Given the description of an element on the screen output the (x, y) to click on. 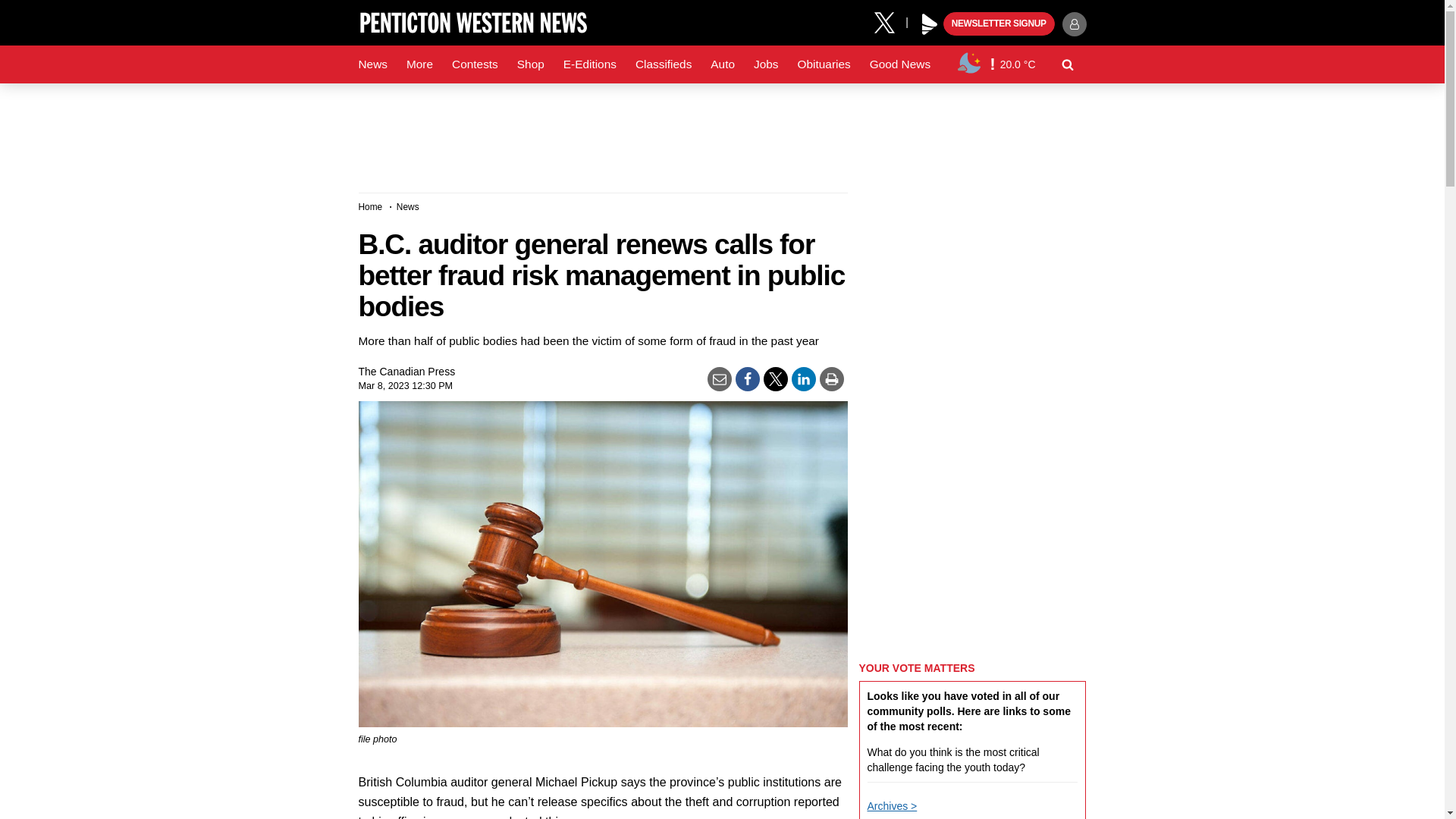
3rd party ad content (721, 131)
X (889, 21)
NEWSLETTER SIGNUP (998, 24)
Play (929, 24)
News (372, 64)
Black Press Media (929, 24)
